Given the description of an element on the screen output the (x, y) to click on. 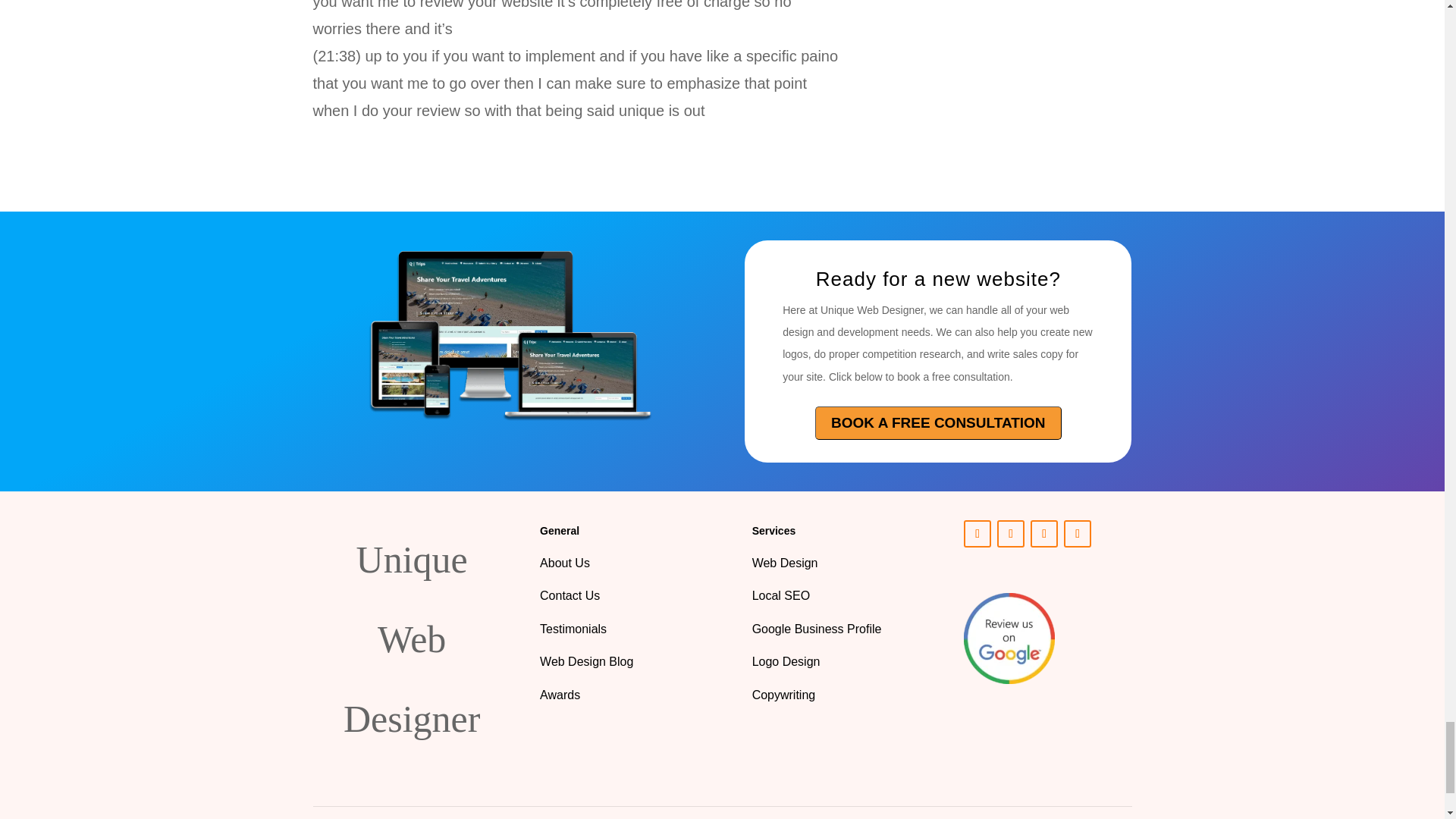
Web Design Blog (586, 661)
Logo Design (786, 661)
Testimonials (573, 628)
Web Design (785, 562)
Local SEO (780, 594)
Follow on Instagram (1044, 533)
About Us (564, 562)
Follow on X (1011, 533)
Google-Review-Icon12312 (1008, 637)
Contact Us  (572, 594)
